Given the description of an element on the screen output the (x, y) to click on. 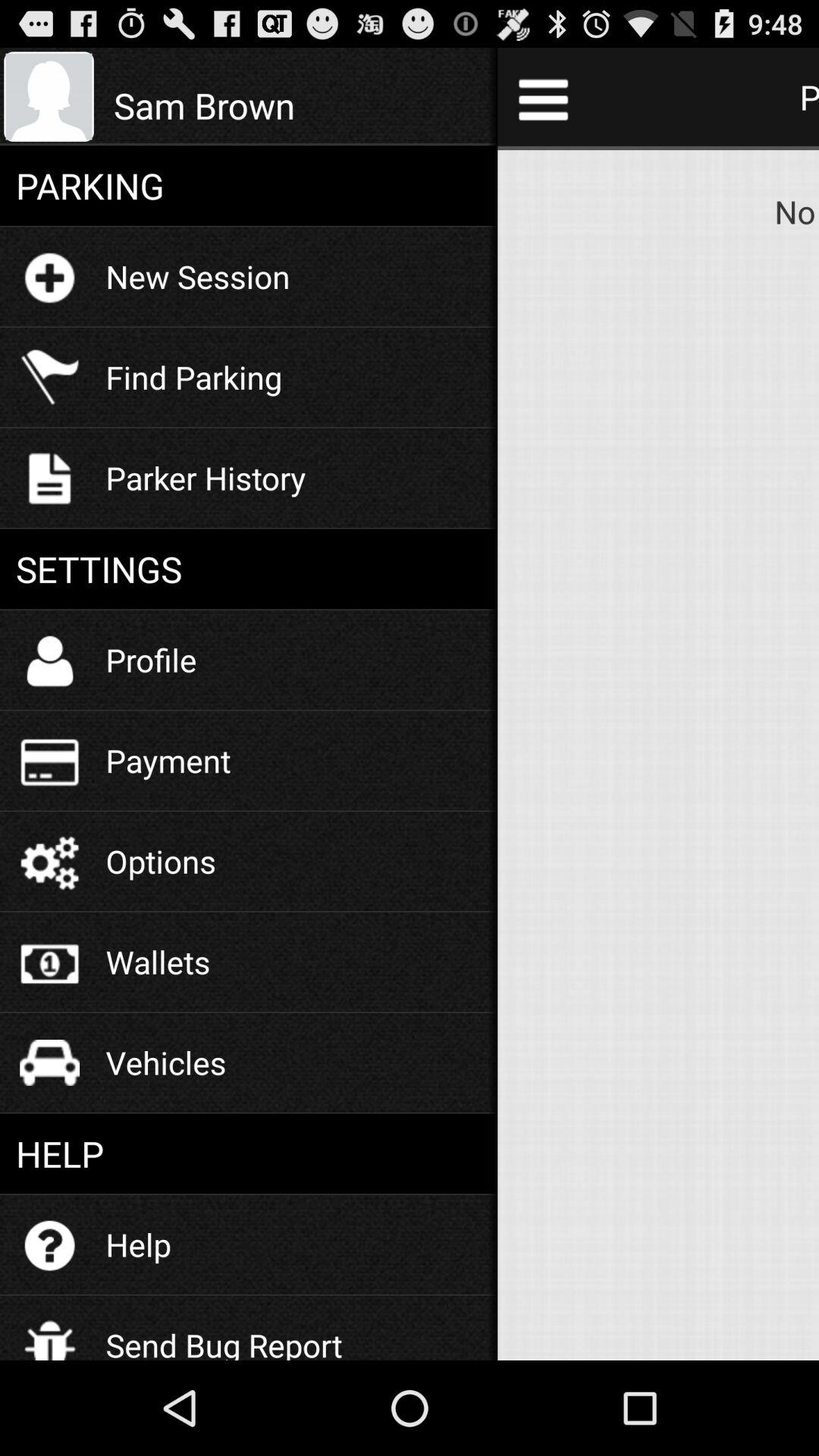
open icon above the help item (165, 1061)
